Given the description of an element on the screen output the (x, y) to click on. 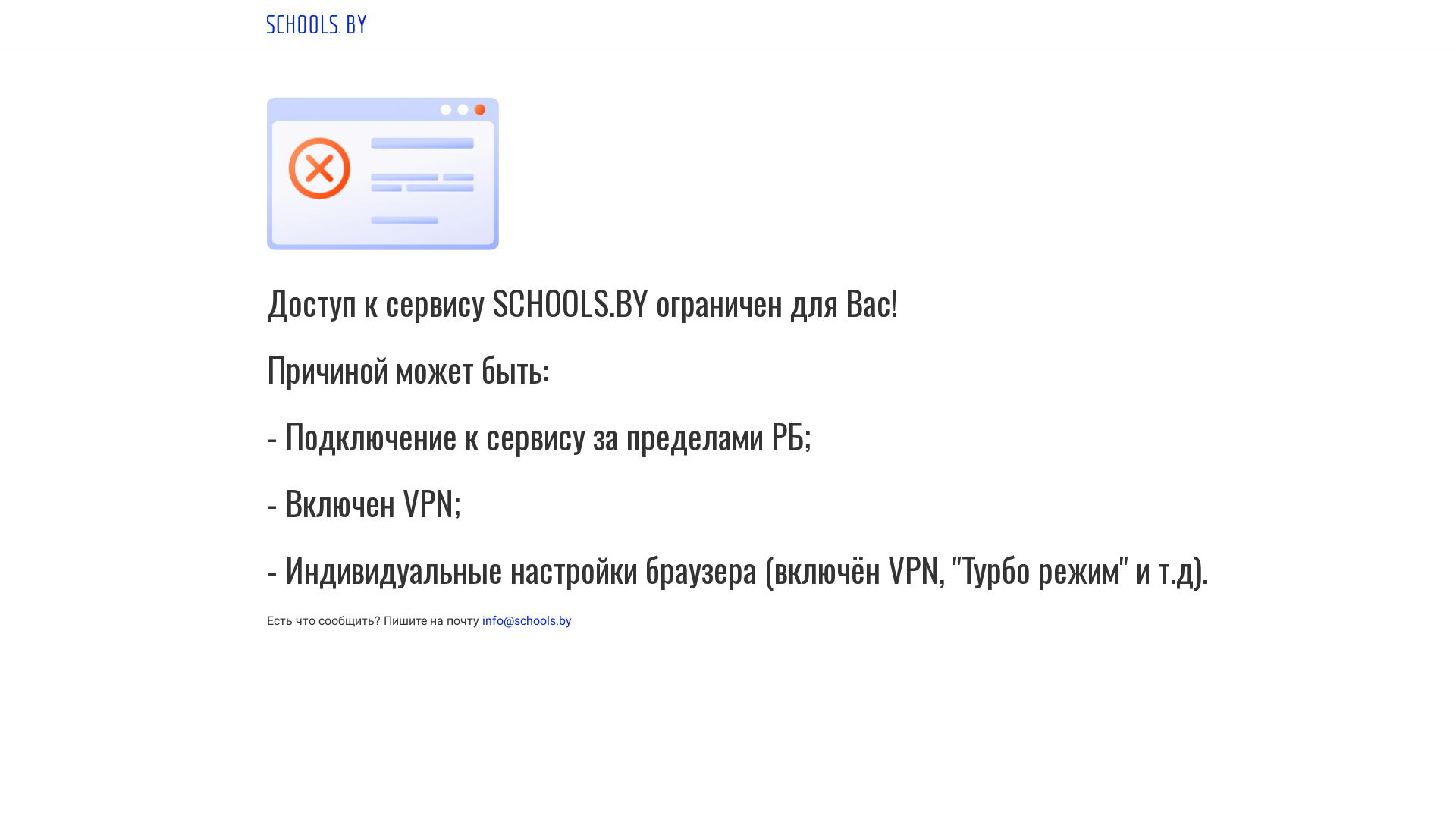
info@schools.by Element type: text (526, 620)
